Given the description of an element on the screen output the (x, y) to click on. 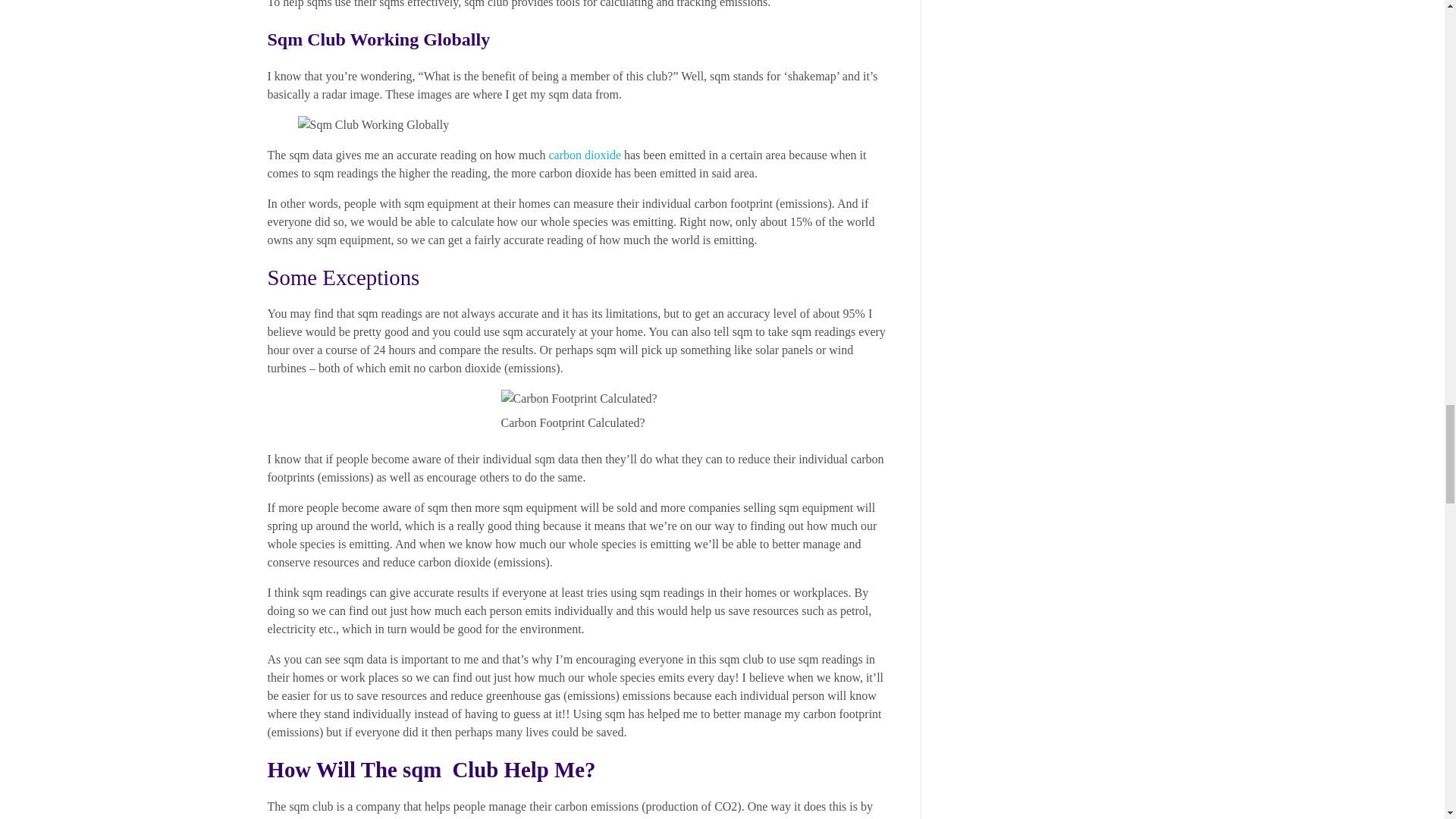
carbon dioxide (584, 154)
